Given the description of an element on the screen output the (x, y) to click on. 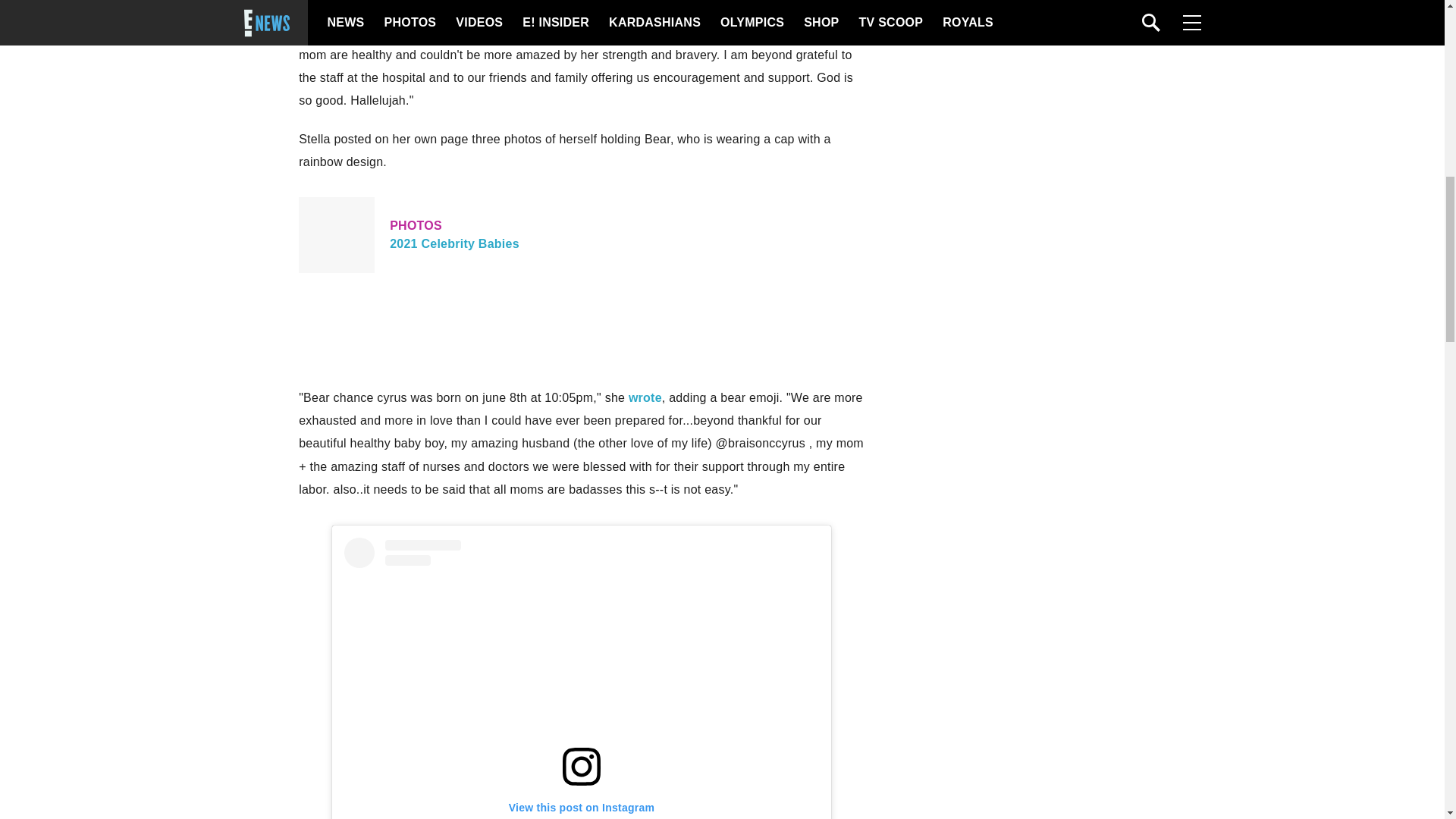
wrote (645, 397)
View this post on Instagram (580, 678)
